Given the description of an element on the screen output the (x, y) to click on. 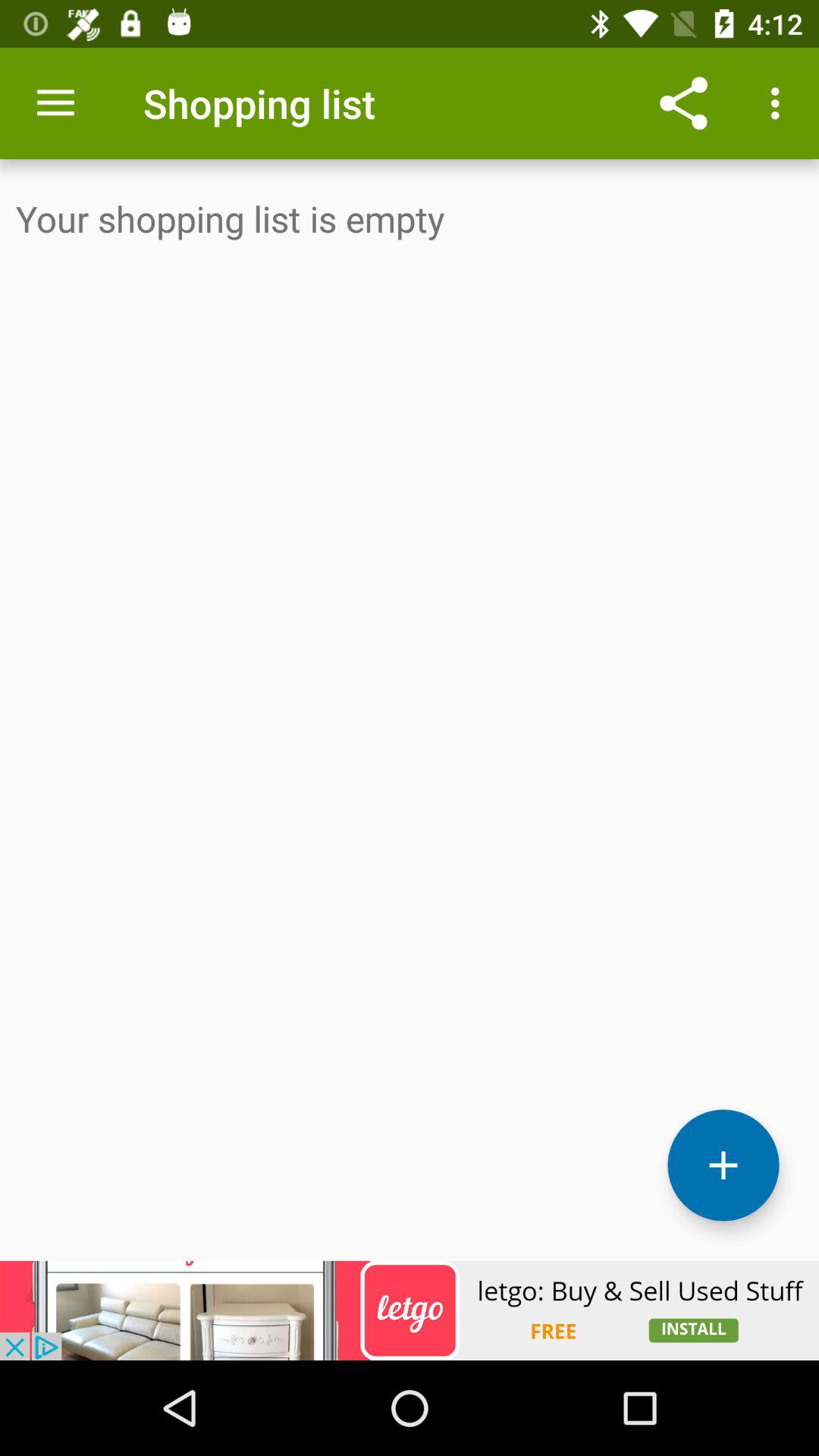
go to increase (723, 1165)
